Given the description of an element on the screen output the (x, y) to click on. 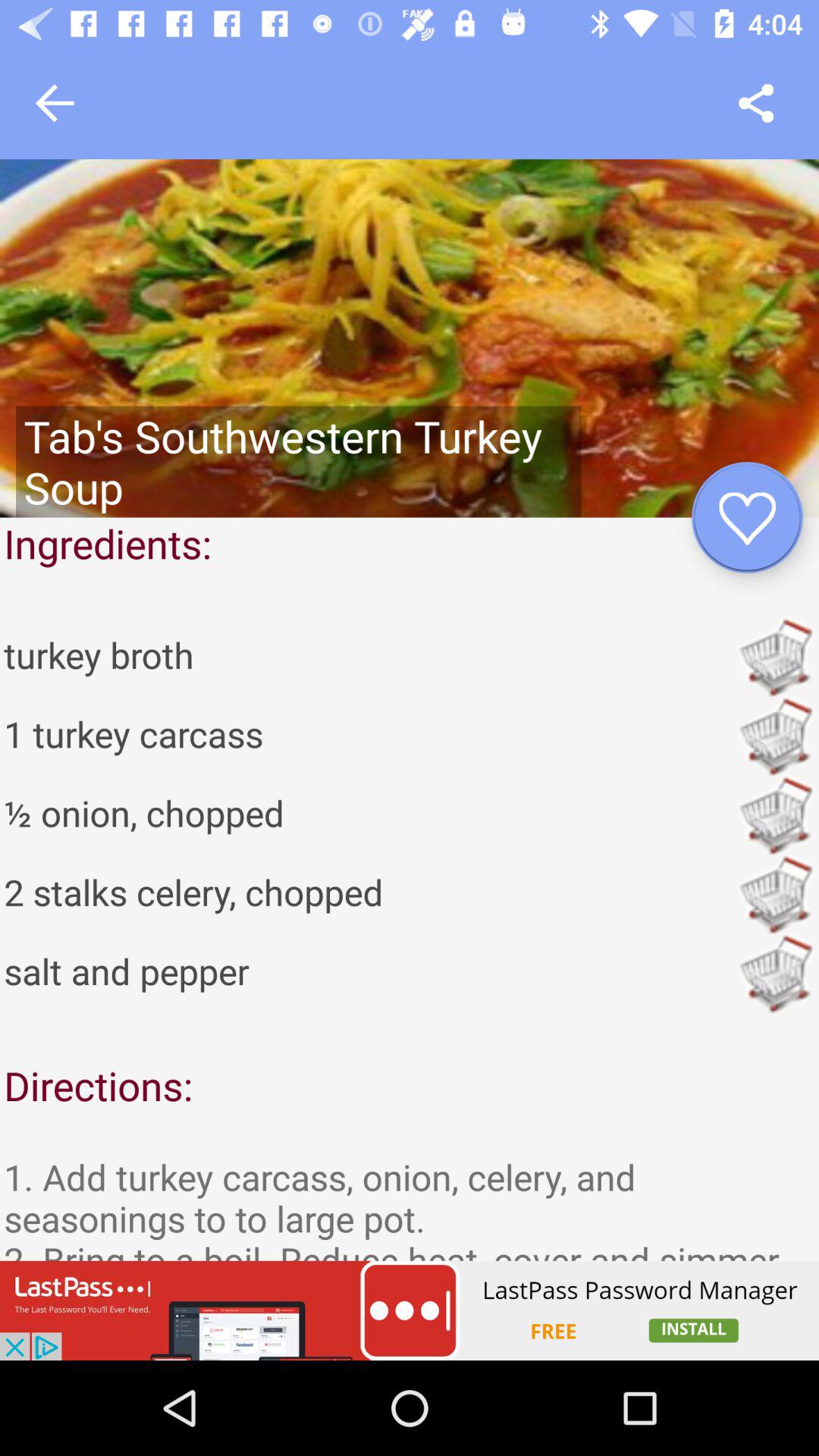
go back (54, 103)
